Given the description of an element on the screen output the (x, y) to click on. 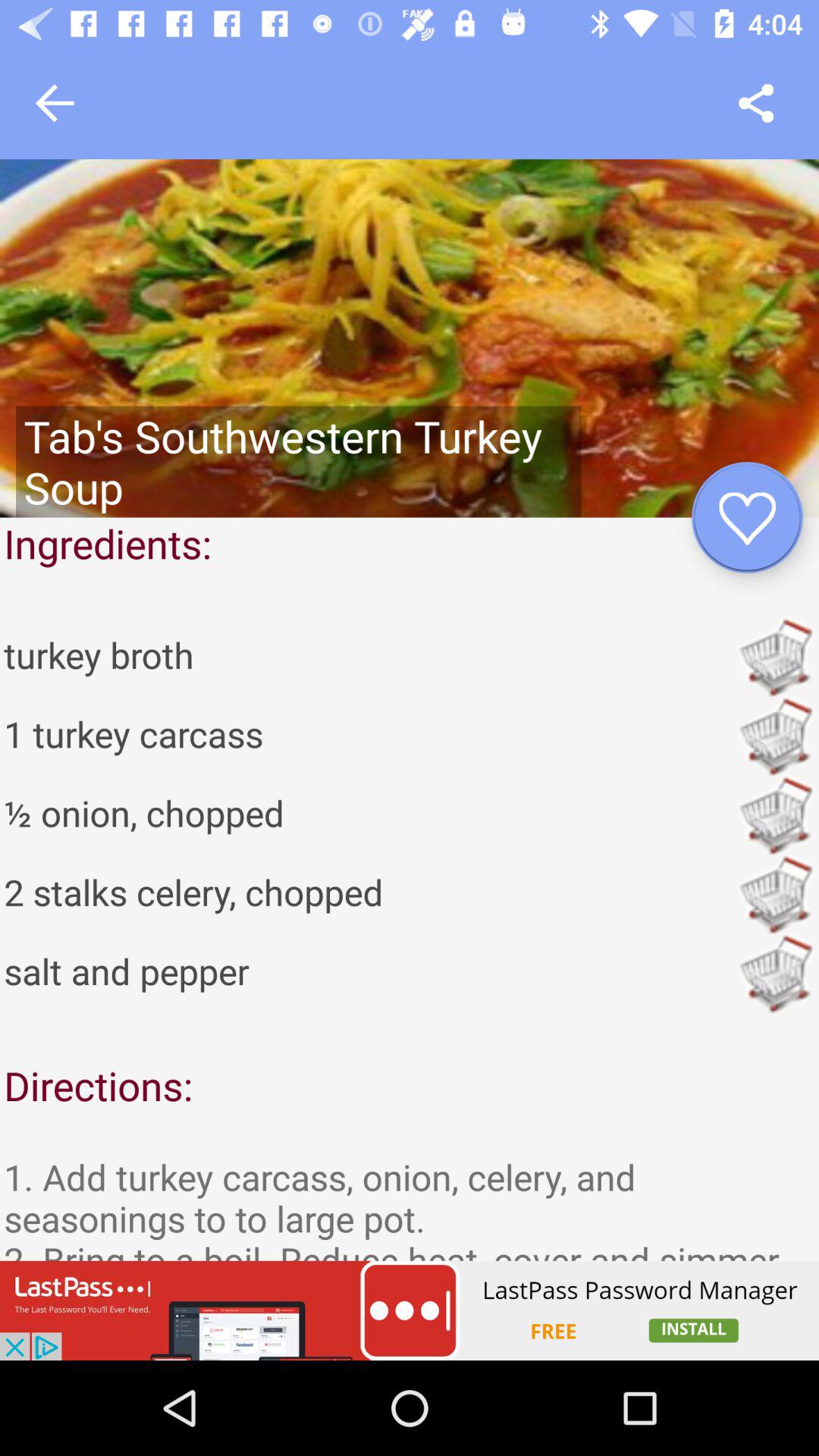
go back (54, 103)
